Given the description of an element on the screen output the (x, y) to click on. 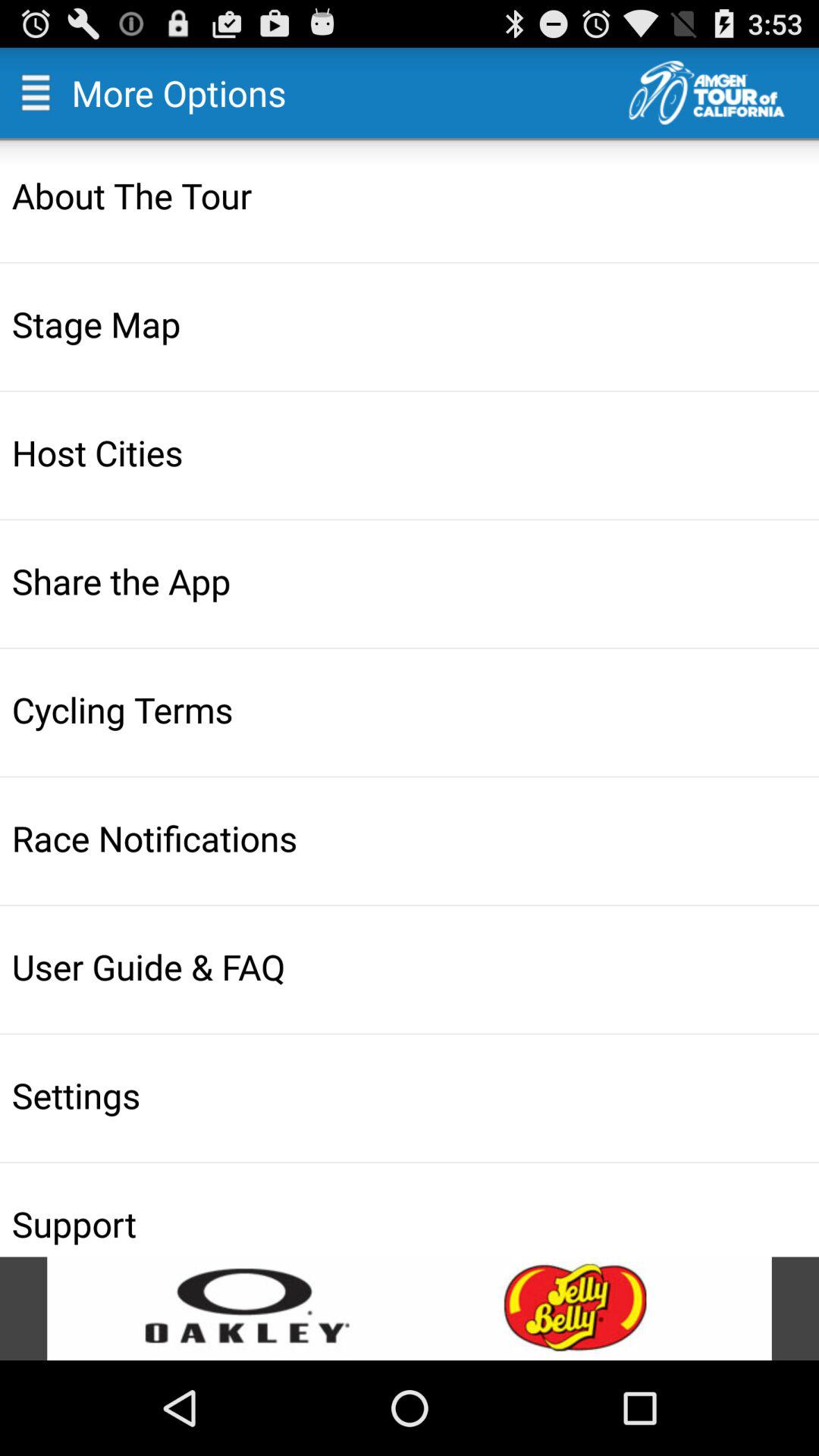
choose icon above the user guide & faq icon (411, 837)
